Given the description of an element on the screen output the (x, y) to click on. 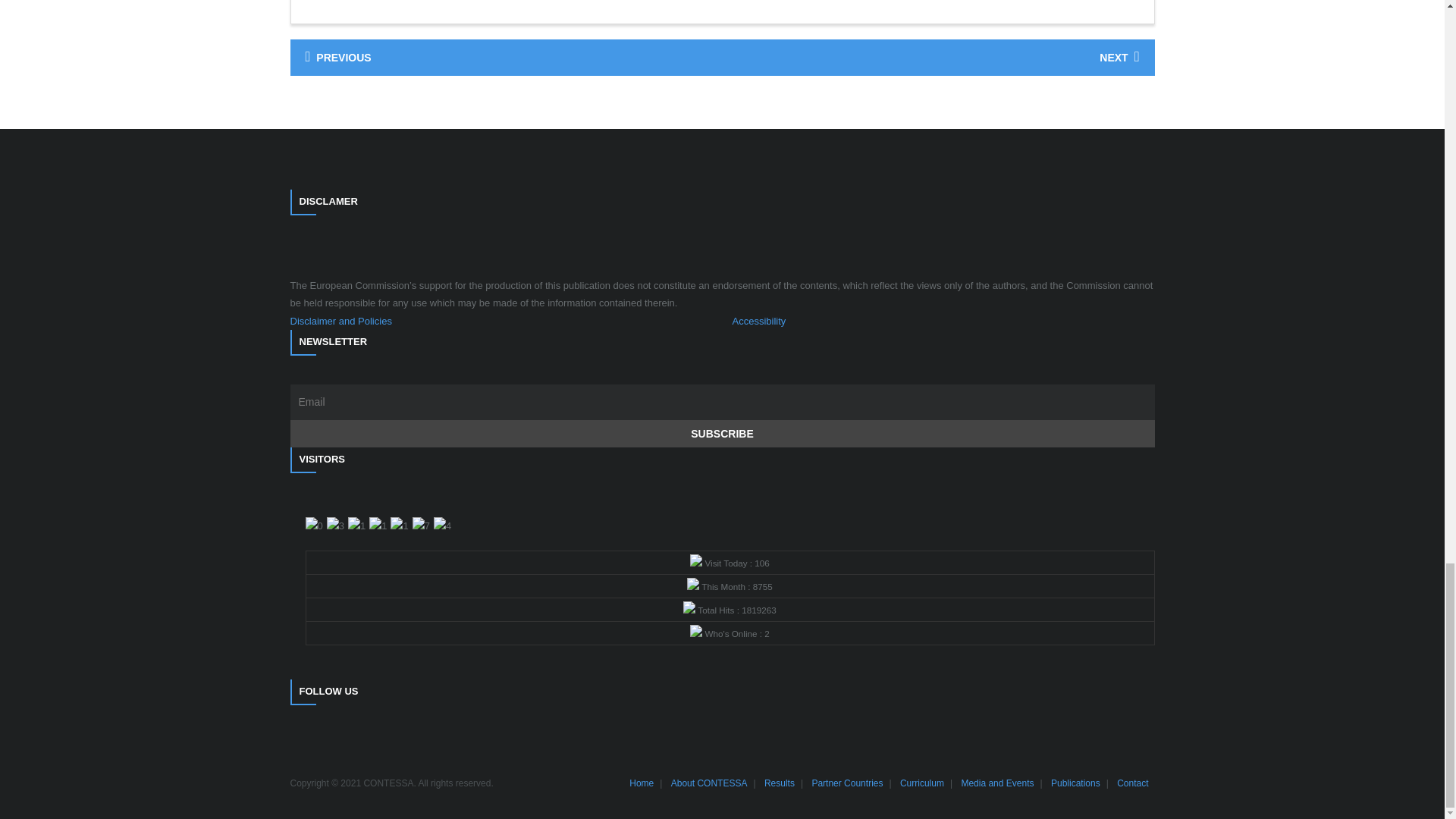
Subscribe (721, 433)
